Given the description of an element on the screen output the (x, y) to click on. 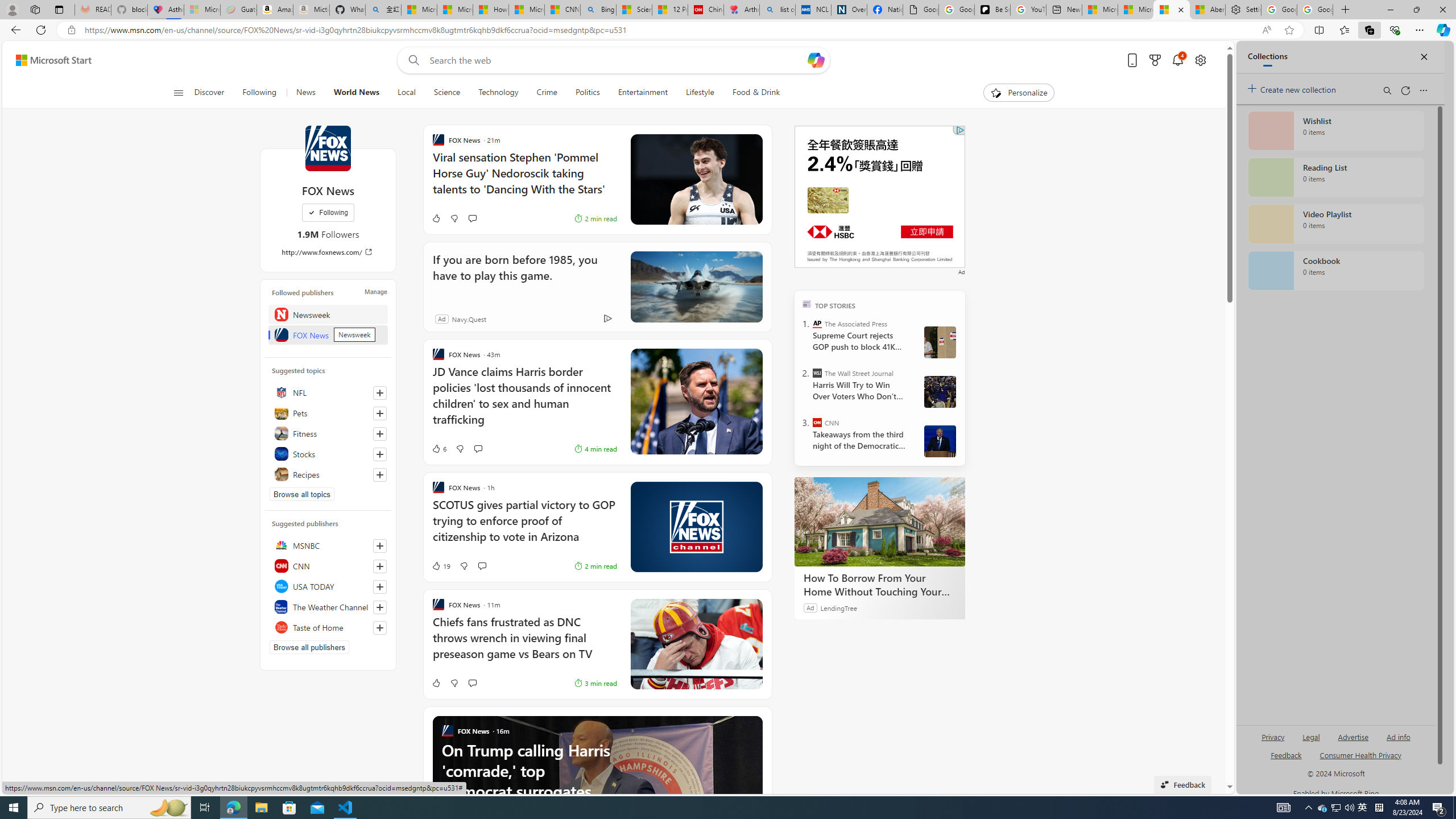
USA TODAY (327, 586)
CNN (327, 565)
FOX News (327, 334)
AutomationID: sb_feedback (1286, 754)
